Given the description of an element on the screen output the (x, y) to click on. 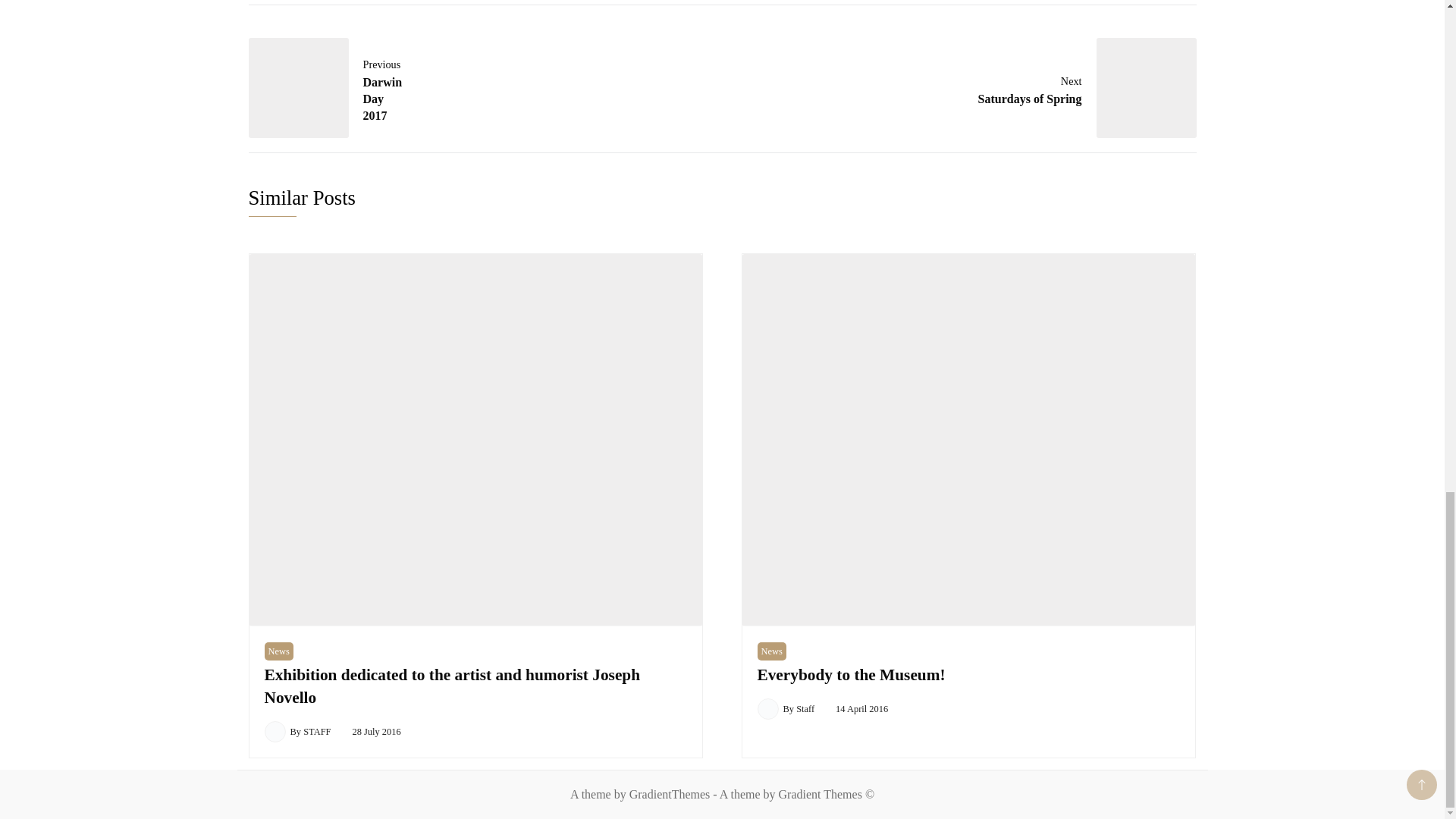
14 April 2016 (861, 708)
Everybody to the Museum! (850, 674)
28 July 2016 (992, 87)
News (376, 731)
Staff (277, 651)
STAFF (804, 708)
News (308, 87)
